Given the description of an element on the screen output the (x, y) to click on. 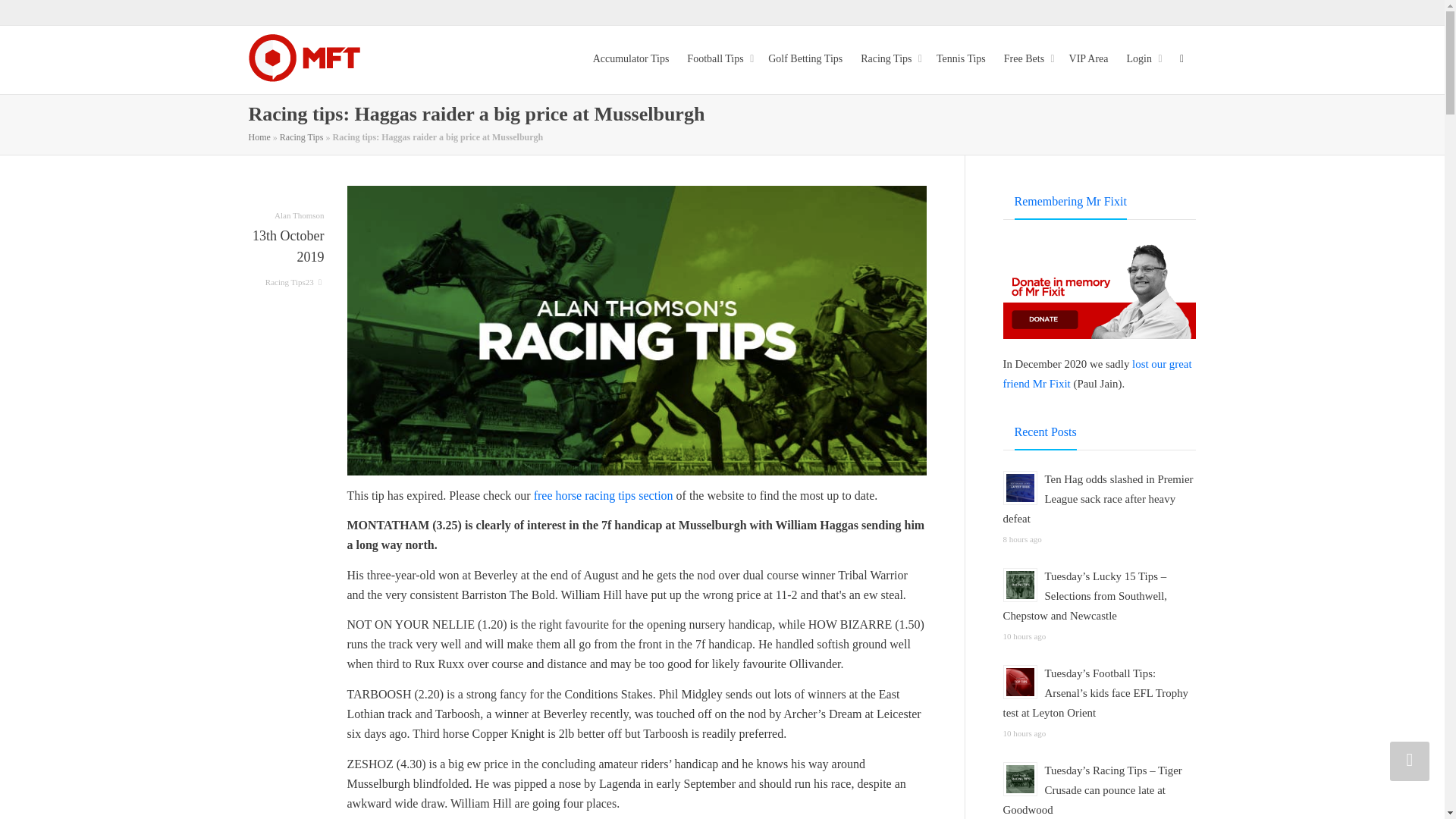
Football Tips (718, 58)
13th October 2019 (286, 257)
free horse racing tips section (603, 495)
Home (259, 136)
Accumulator Tips (630, 58)
Football Tips (718, 58)
23 (314, 281)
Accumulator Tips (630, 58)
Alan Thomson (299, 222)
Racing Tips (301, 136)
